Given the description of an element on the screen output the (x, y) to click on. 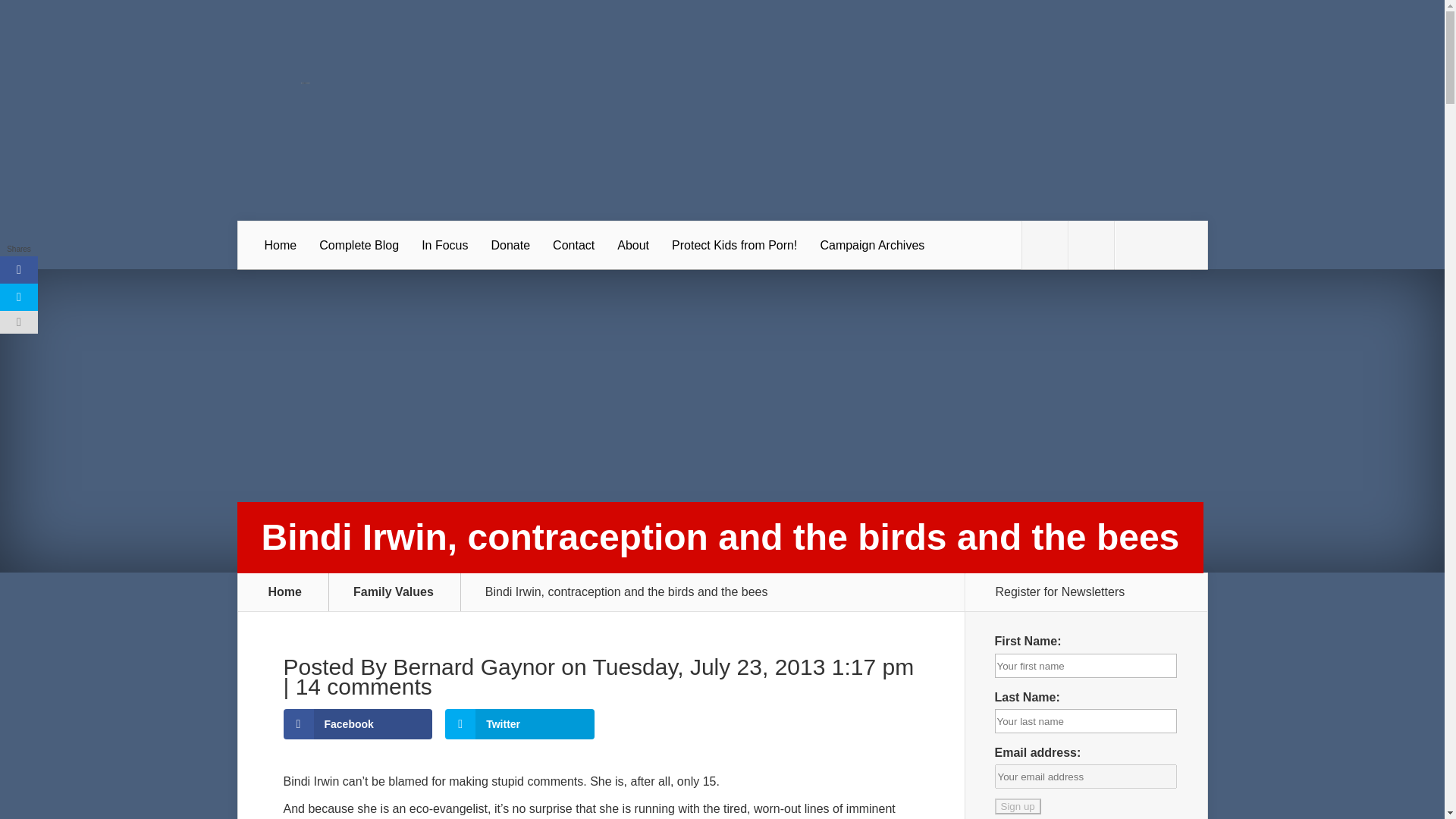
Bernard Gaynor (473, 666)
Campaign Archives (872, 245)
Complete Blog (358, 245)
About (633, 245)
Family Values (402, 592)
Follow us on Twitter (1044, 245)
Sign up (1017, 806)
Contact (573, 245)
Twitter (519, 724)
Donate (510, 245)
